Given the description of an element on the screen output the (x, y) to click on. 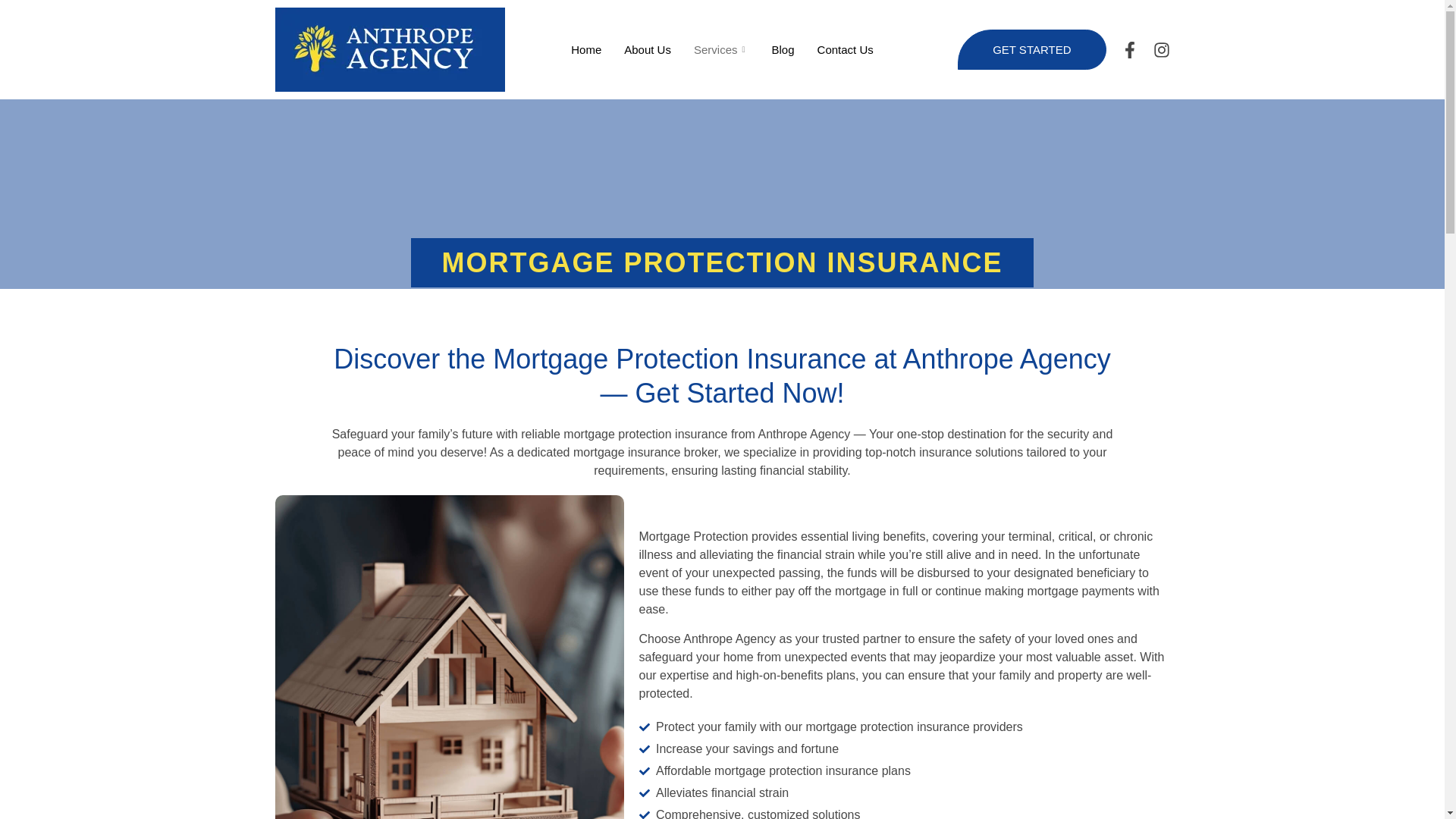
About Us (647, 49)
Services (721, 49)
Contact Us (845, 49)
GET STARTED (1031, 49)
